Given the description of an element on the screen output the (x, y) to click on. 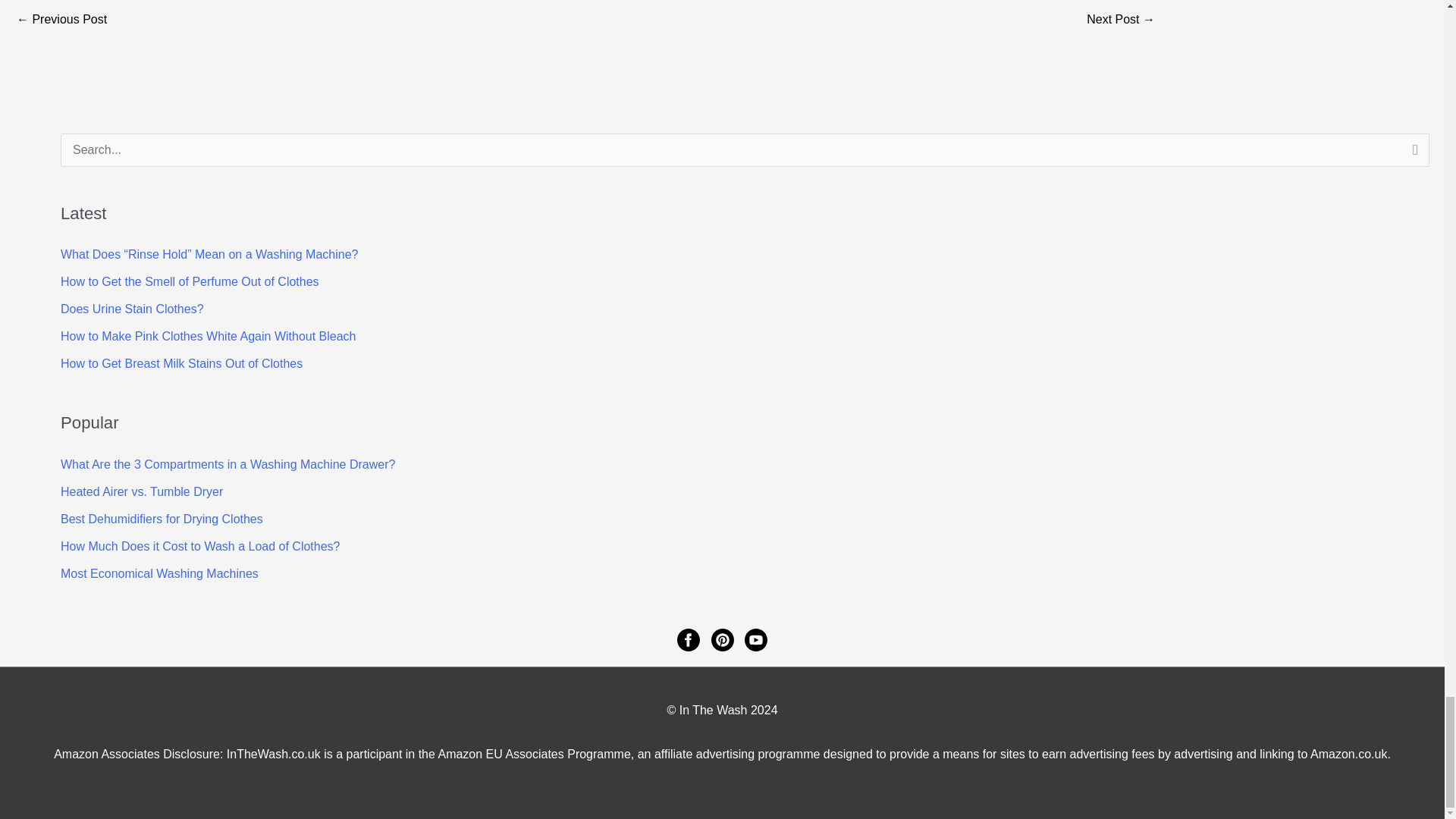
Does Urine Stain Clothes? (132, 308)
How to Remove Limescale from Glass (61, 20)
How to Get the Smell of Perfume Out of Clothes (189, 281)
Is White Vinegar the Same as White Wine Vinegar? (1120, 20)
